Given the description of an element on the screen output the (x, y) to click on. 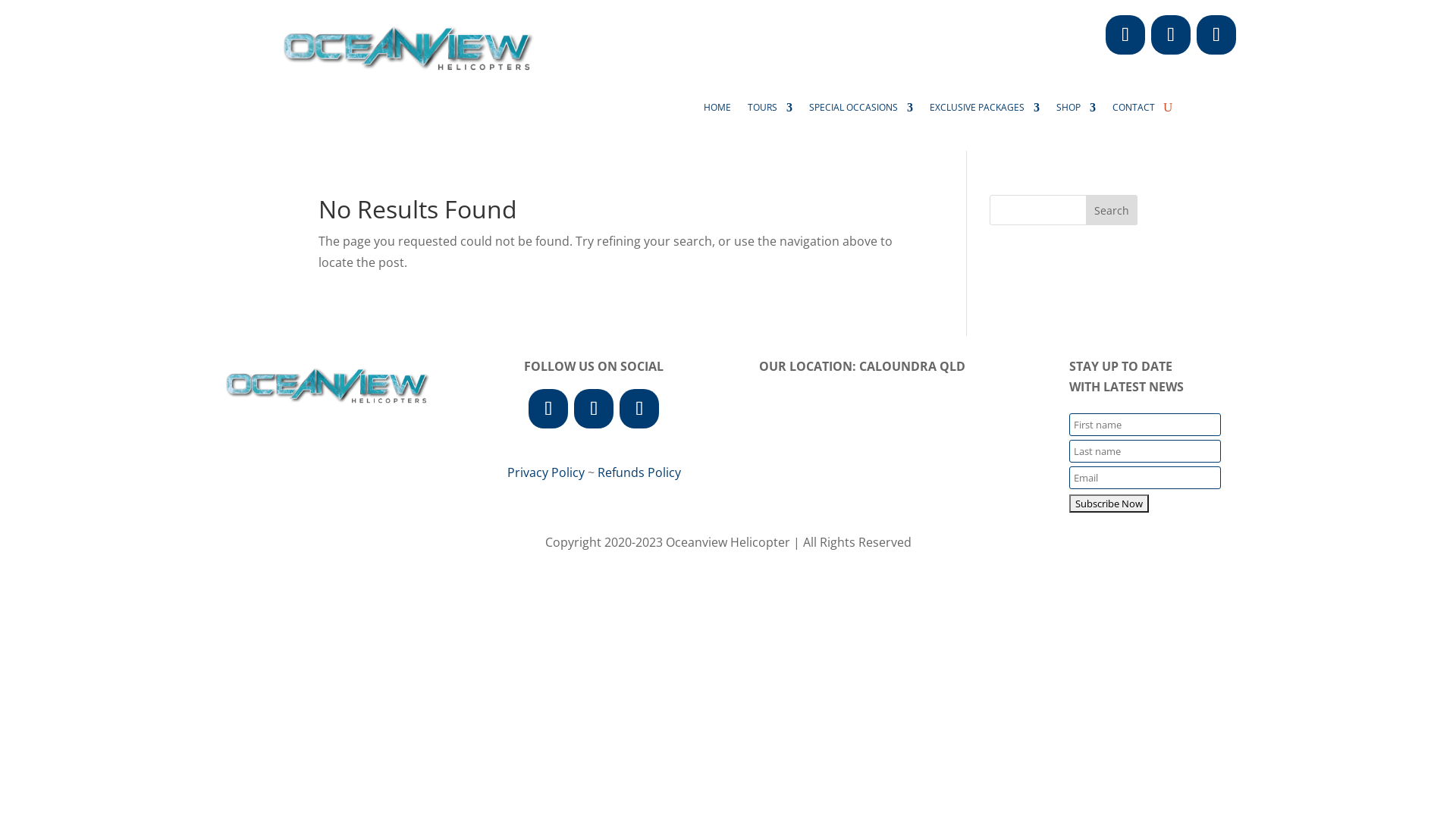
CONTACT Element type: text (1133, 110)
Follow on Facebook Element type: hover (547, 408)
EXCLUSIVE PACKAGES Element type: text (984, 110)
Subscribe Now Element type: text (1108, 503)
OceanviewHeli-NewLOGO Element type: hover (406, 47)
Follow on Facebook Element type: hover (1125, 34)
OceanviewHeli-NewLOGO Element type: hover (325, 384)
TOURS Element type: text (769, 110)
Search Element type: text (1111, 209)
Follow on LinkedIn Element type: hover (1216, 34)
Follow on Instagram Element type: hover (593, 408)
SPECIAL OCCASIONS Element type: text (861, 110)
HOME Element type: text (717, 110)
Follow on LinkedIn Element type: hover (638, 408)
Follow on Instagram Element type: hover (1170, 34)
SHOP Element type: text (1075, 110)
Refunds Policy Element type: text (638, 472)
Privacy Policy Element type: text (545, 472)
